Given the description of an element on the screen output the (x, y) to click on. 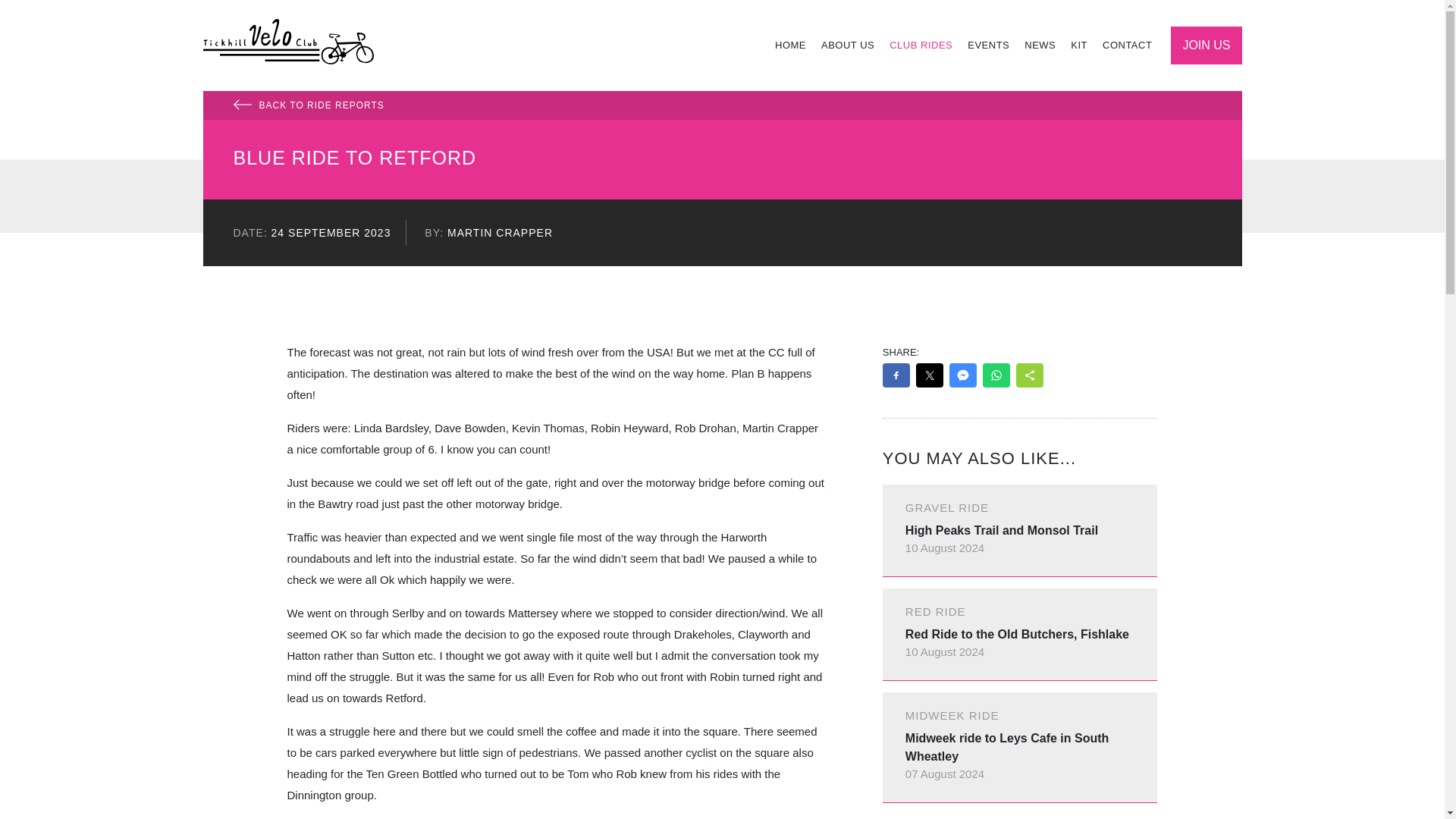
NEWS (1039, 45)
HOME (790, 45)
BACK TO RIDE REPORTS (722, 104)
EVENTS (987, 45)
CLUB RIDES (920, 45)
ABOUT US (847, 45)
CONTACT (1126, 45)
